Given the description of an element on the screen output the (x, y) to click on. 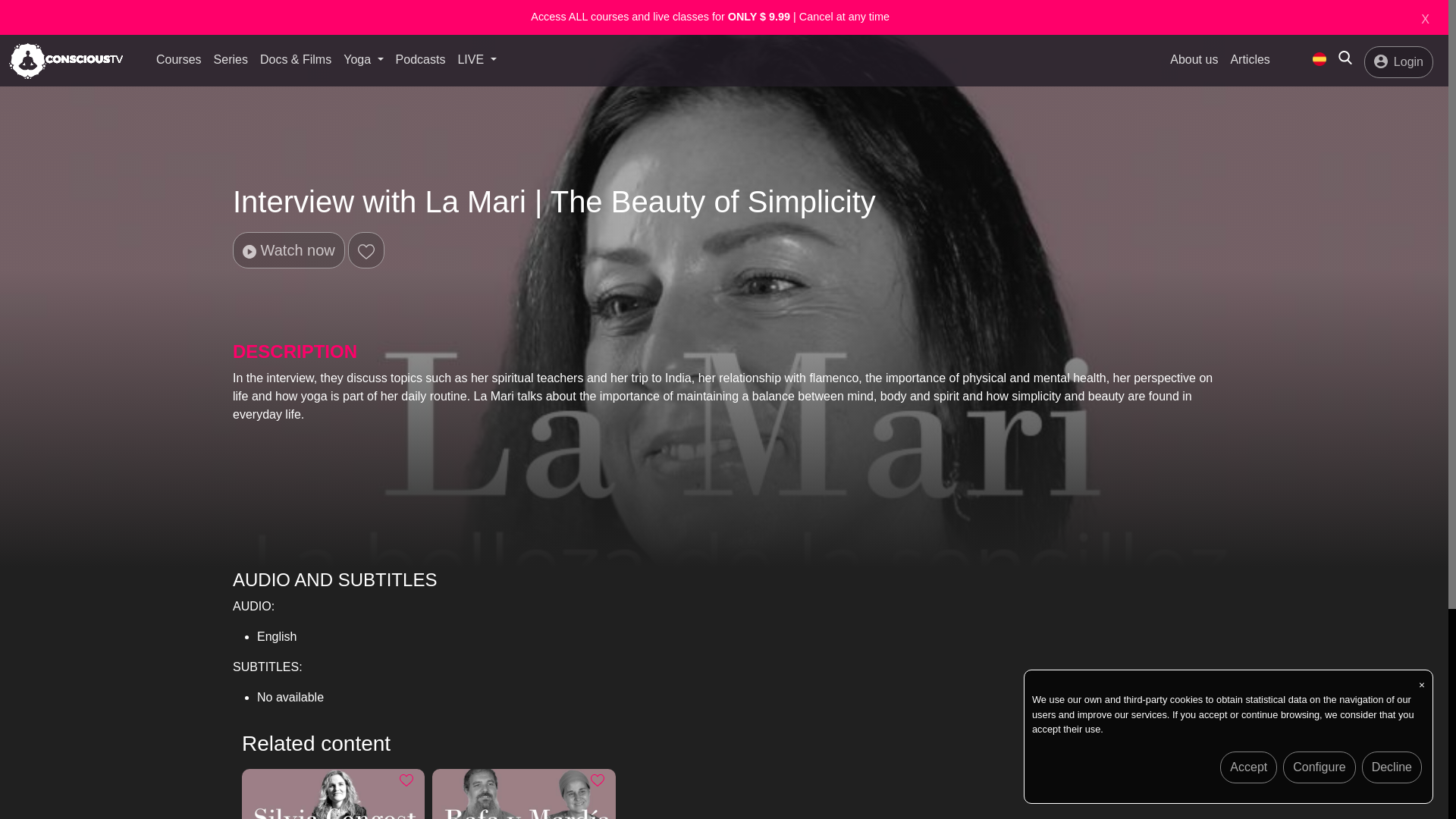
Silvia Congost: Self-esteem and emotional dependence (333, 794)
Articles (1249, 60)
About us (1193, 60)
Series (230, 60)
Conscious TV (1319, 59)
Decline (1391, 766)
LIVE (476, 60)
Login (1398, 61)
Courses (178, 60)
Configure (1318, 766)
X (1424, 19)
Yoga (362, 60)
Login (1398, 62)
Add to favorites (405, 780)
Watch now (288, 249)
